Given the description of an element on the screen output the (x, y) to click on. 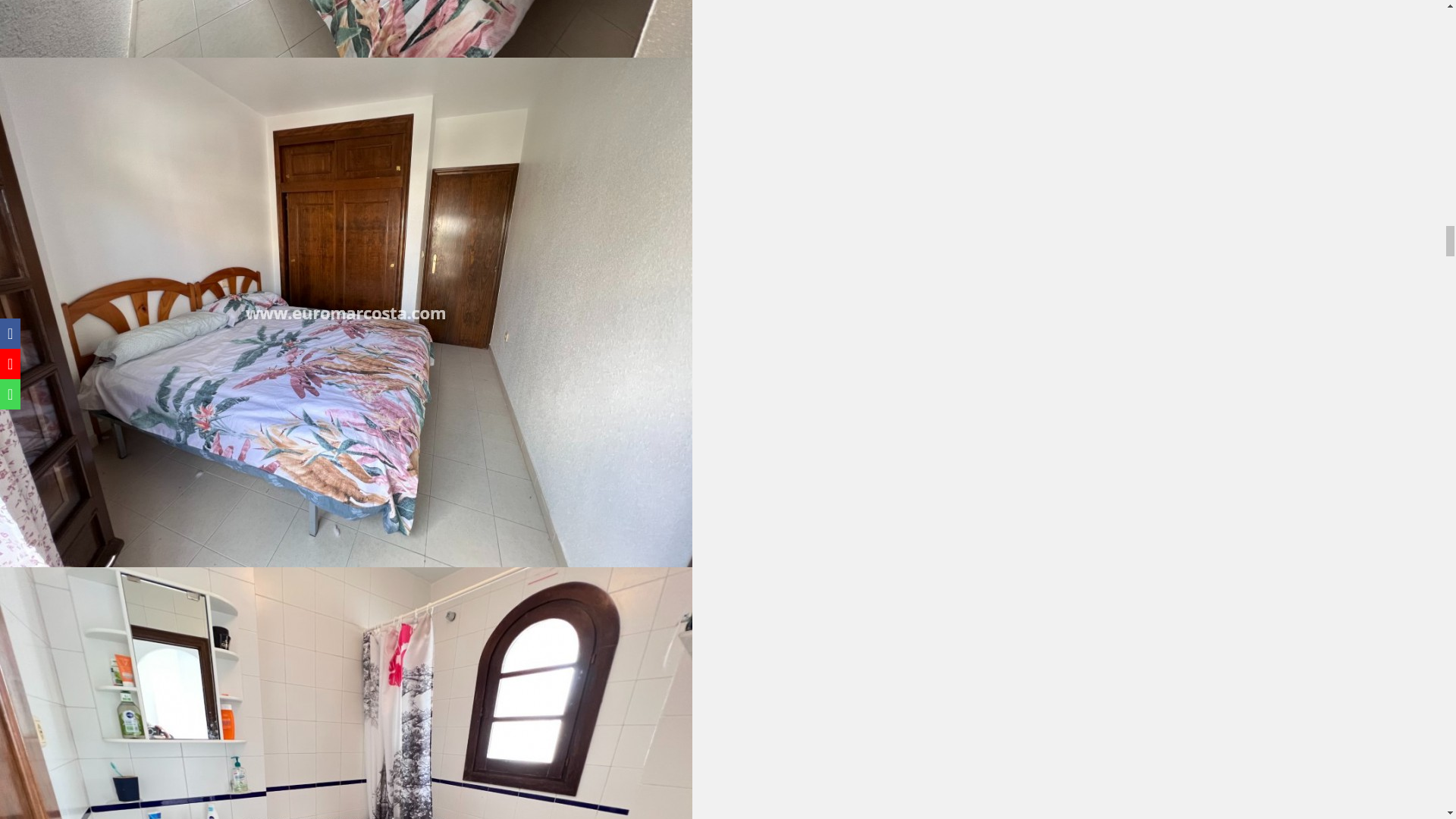
Short time rental - Penthouse - Torrevieja - TORREVIEJA (346, 28)
